Given the description of an element on the screen output the (x, y) to click on. 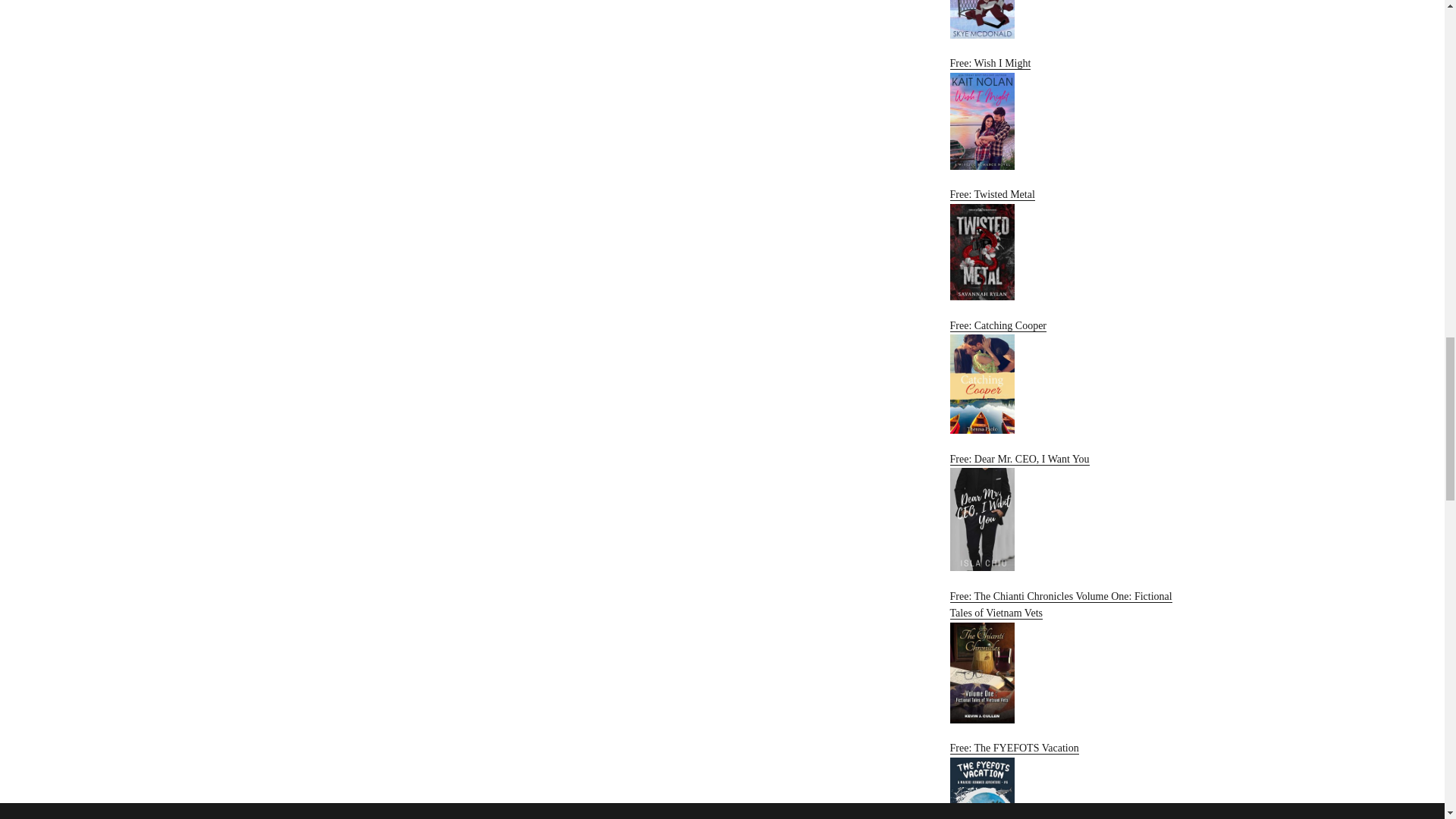
Free: Twisted Metal (1062, 244)
Free: Wish I Might (1062, 112)
Free: Scoreless (1062, 19)
